Given the description of an element on the screen output the (x, y) to click on. 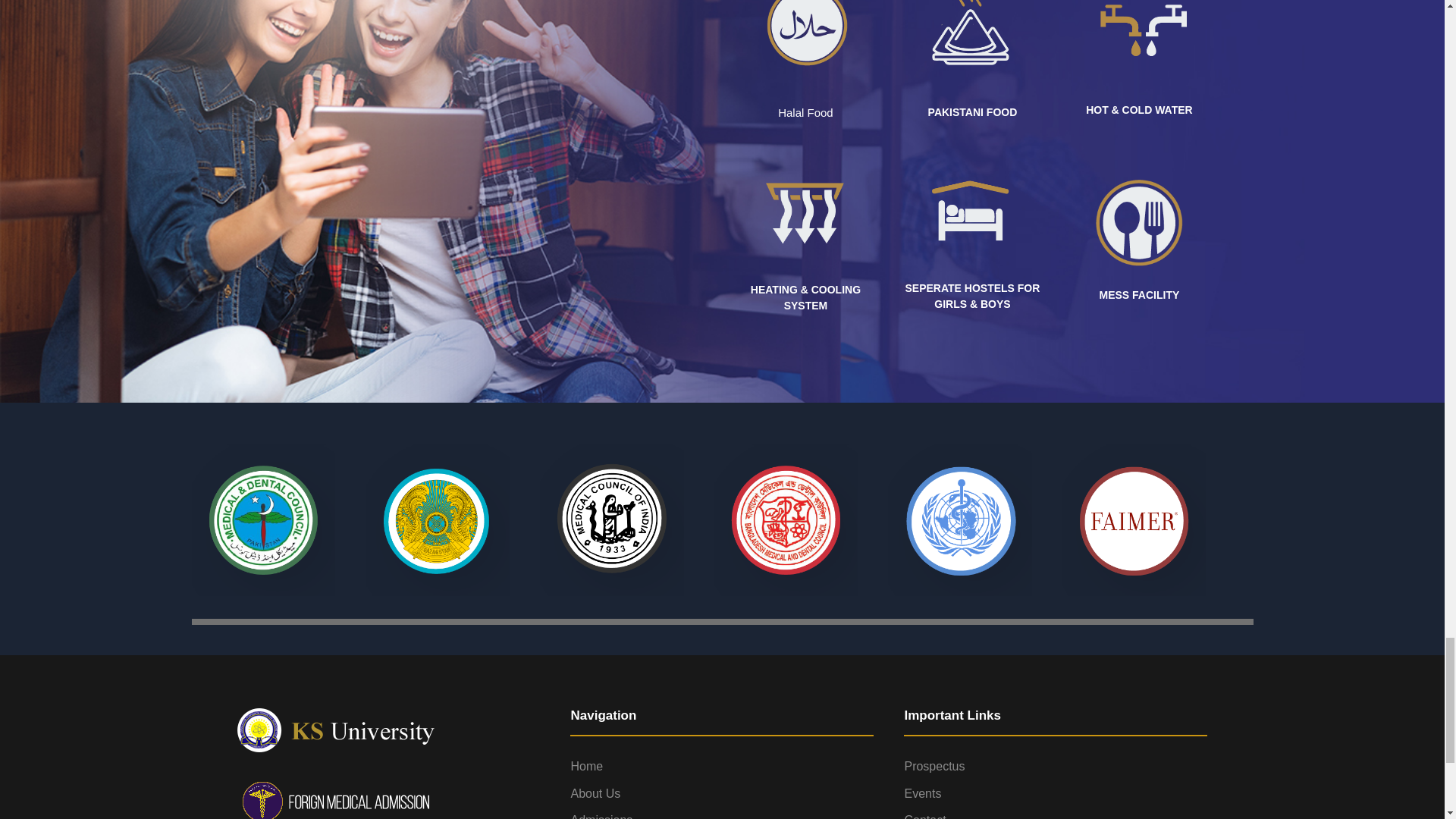
new changes file-17 (804, 40)
new changes file-19 (1138, 40)
new changes file-18 (972, 41)
new changes file-16 (1138, 217)
new changes file-20 (804, 211)
new changes file-21 (972, 209)
